Given the description of an element on the screen output the (x, y) to click on. 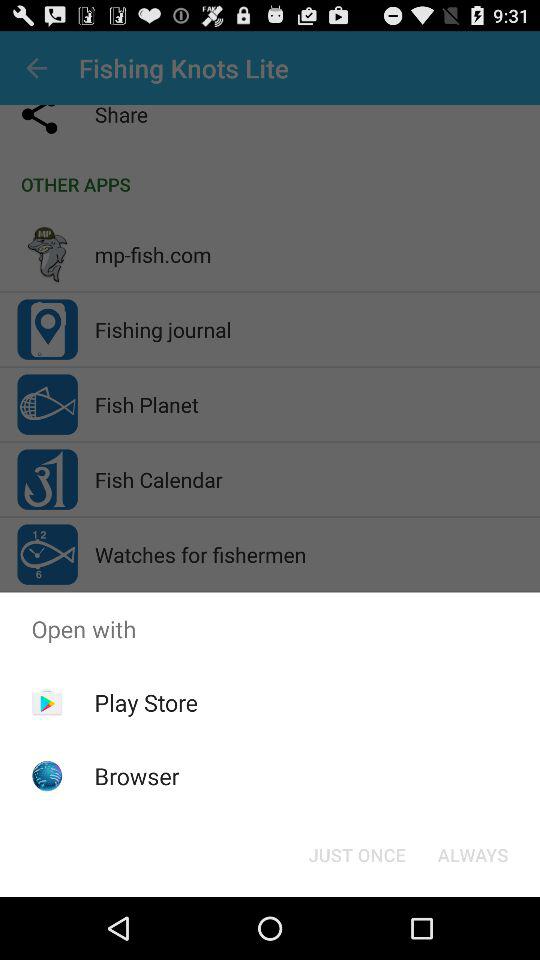
turn off browser (136, 775)
